Given the description of an element on the screen output the (x, y) to click on. 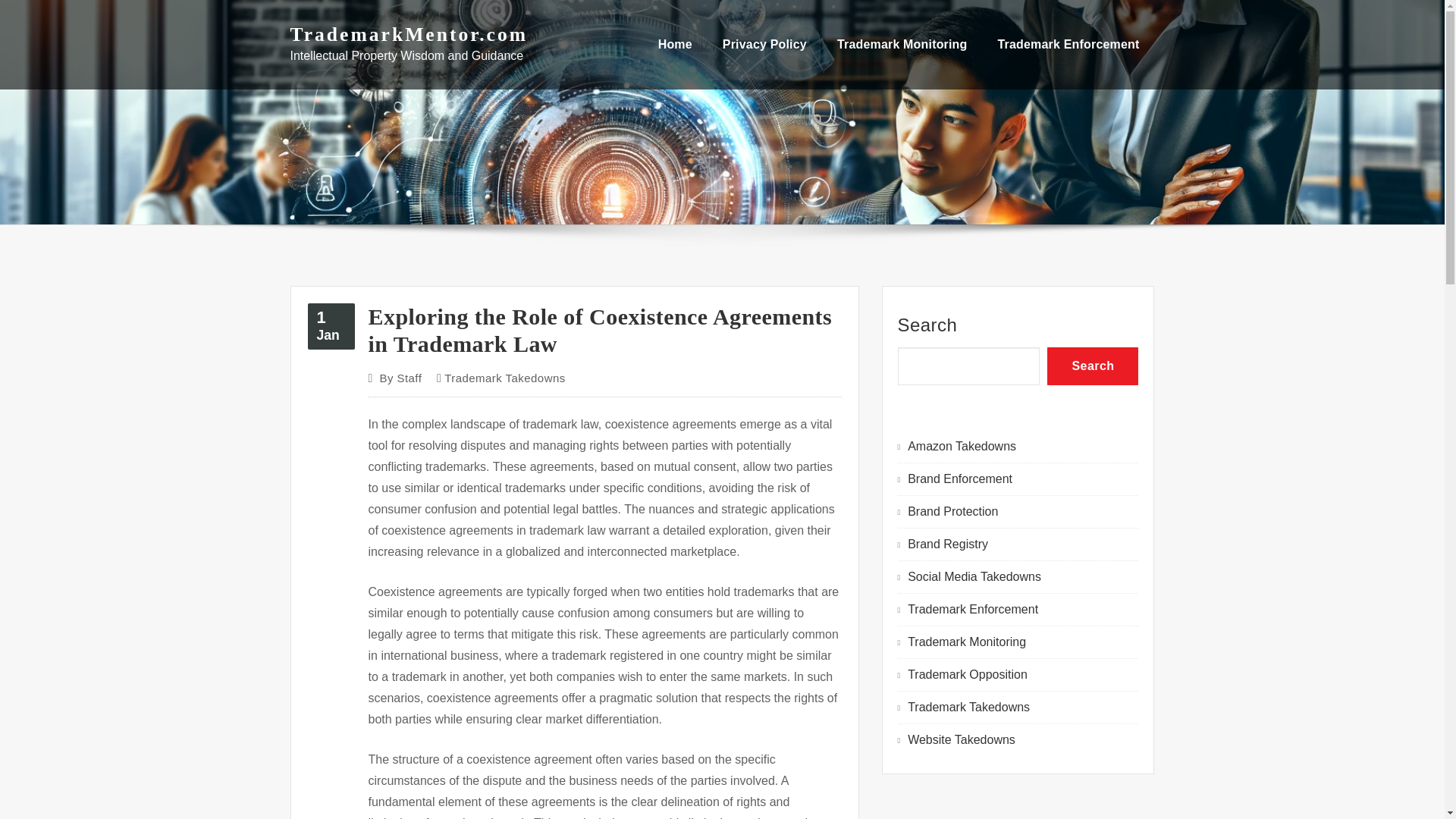
Trademark Opposition (967, 674)
Social Media Takedowns (974, 576)
Website Takedowns (960, 739)
Trademark Takedowns (968, 707)
Amazon Takedowns (961, 445)
Brand Protection (952, 511)
Trademark Enforcement (972, 608)
Home (330, 326)
Brand Registry (675, 44)
TrademarkMentor.com (947, 543)
Brand Enforcement (408, 34)
By Staff (959, 478)
Trademark Monitoring (400, 378)
Trademark Takedowns (966, 641)
